Given the description of an element on the screen output the (x, y) to click on. 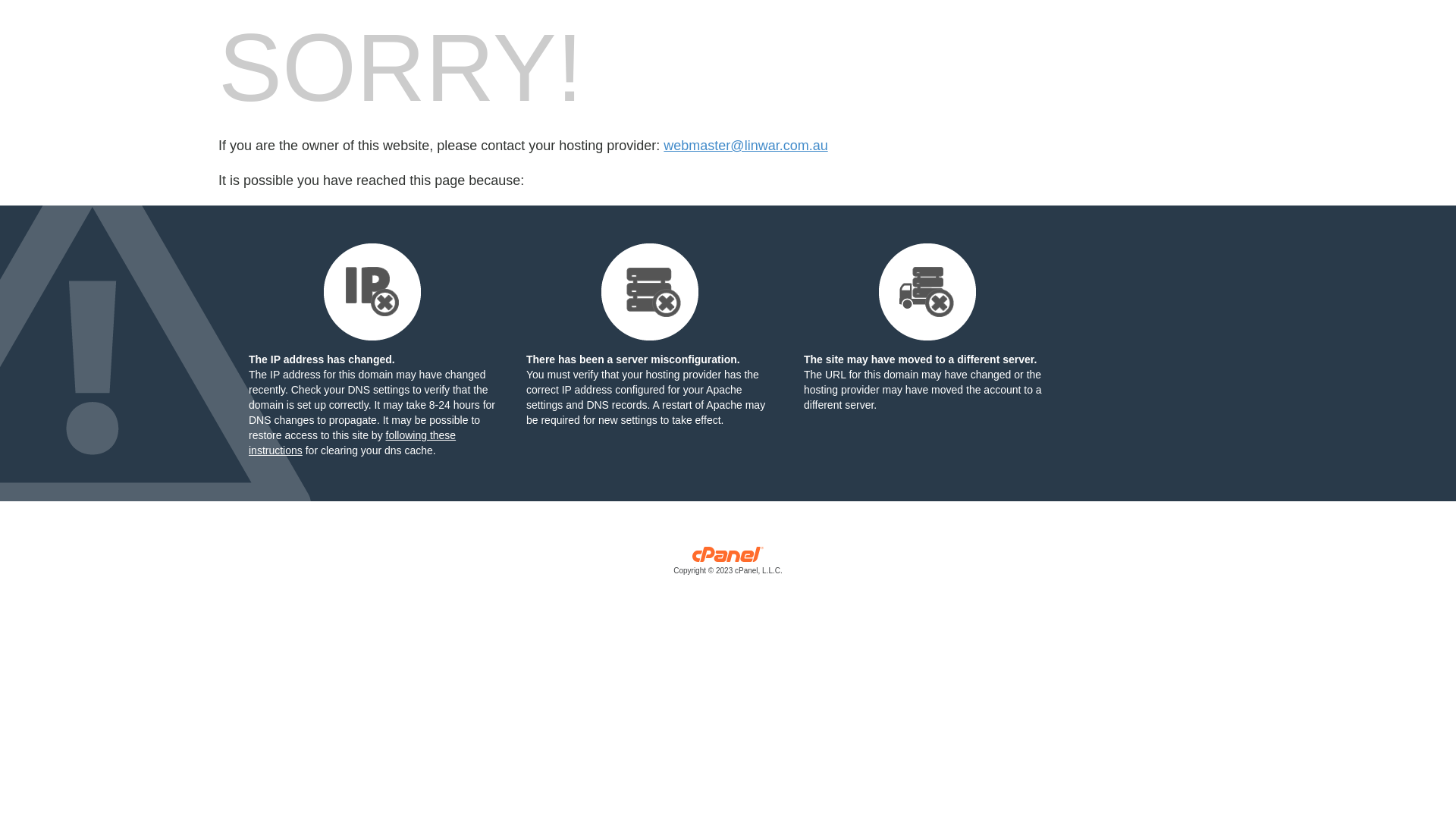
webmaster@linwar.com.au Element type: text (745, 145)
following these instructions Element type: text (351, 442)
